Given the description of an element on the screen output the (x, y) to click on. 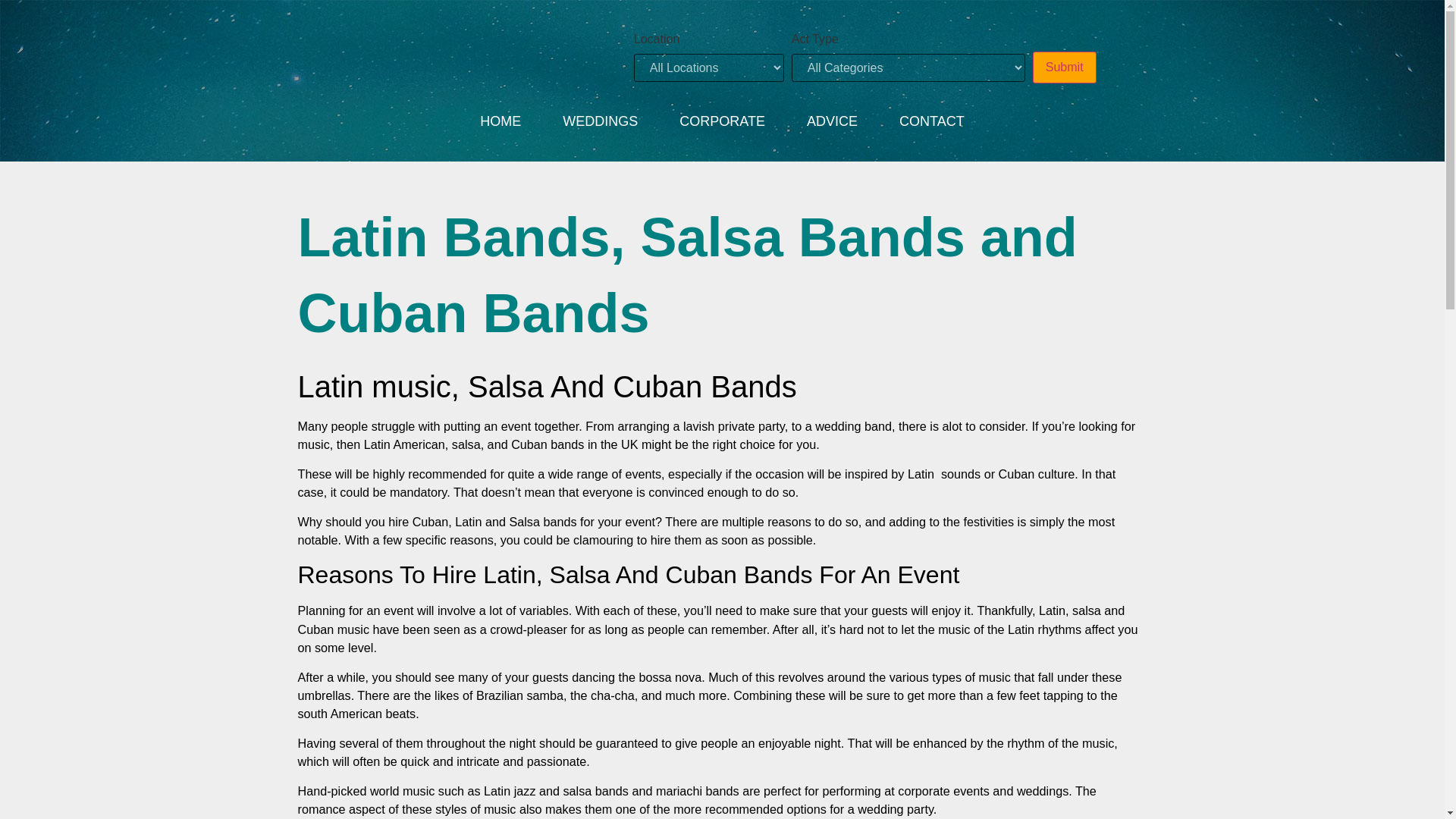
ADVICE (831, 121)
CONTACT (932, 121)
Submit (1064, 67)
CORPORATE (721, 121)
WEDDINGS (599, 121)
Submit (1064, 67)
HOME (500, 121)
